Given the description of an element on the screen output the (x, y) to click on. 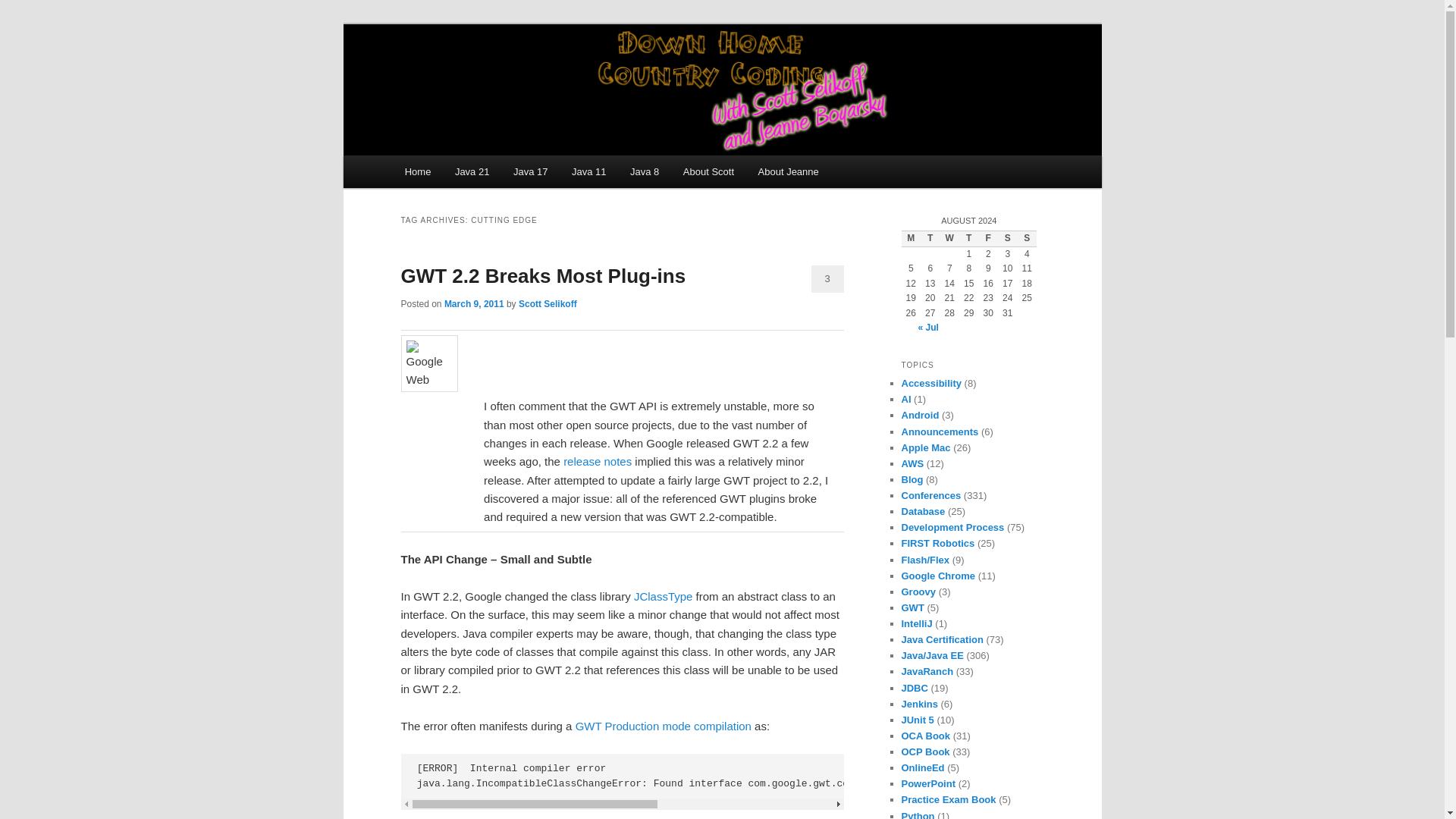
Google Web Toolkit (428, 363)
Home (417, 171)
GWT 2.2 Breaks Most Plug-ins (542, 275)
March 9, 2011 (473, 303)
View all posts by Scott Selikoff (547, 303)
release notes (597, 461)
Java 21 (471, 171)
GWT Production mode compilation (663, 725)
3 (827, 278)
Scott Selikoff (547, 303)
Java 11 (588, 171)
About Scott (708, 171)
Java 17 (529, 171)
Tuesday (930, 238)
